Given the description of an element on the screen output the (x, y) to click on. 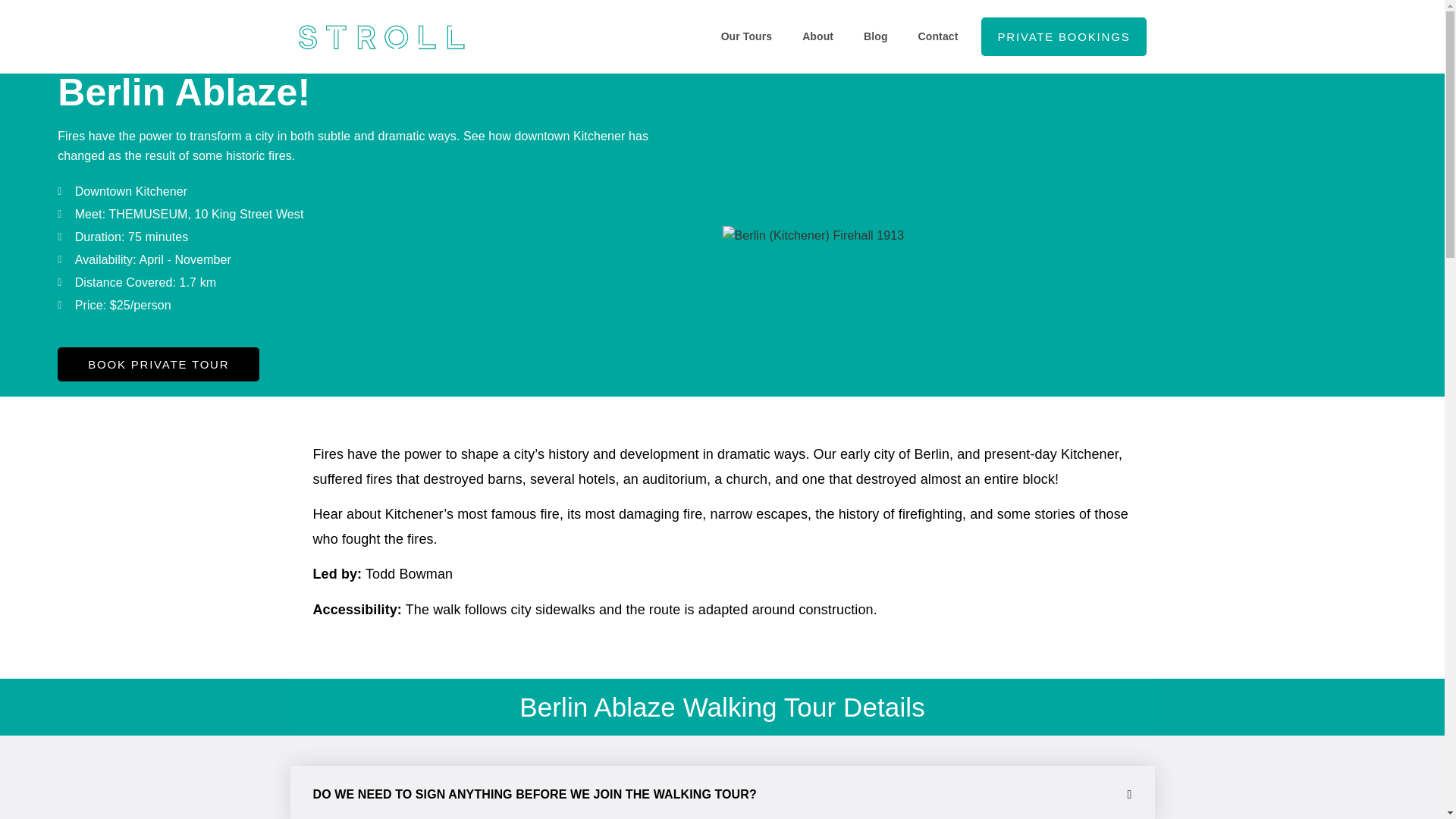
Meet: THEMUSEUM, 10 King Street West (360, 214)
BOOK PRIVATE TOUR (158, 364)
DO WE NEED TO SIGN ANYTHING BEFORE WE JOIN THE WALKING TOUR? (534, 793)
Our Tours (746, 36)
PRIVATE BOOKINGS (1064, 36)
About (817, 36)
Blog (875, 36)
Contact (938, 36)
